Given the description of an element on the screen output the (x, y) to click on. 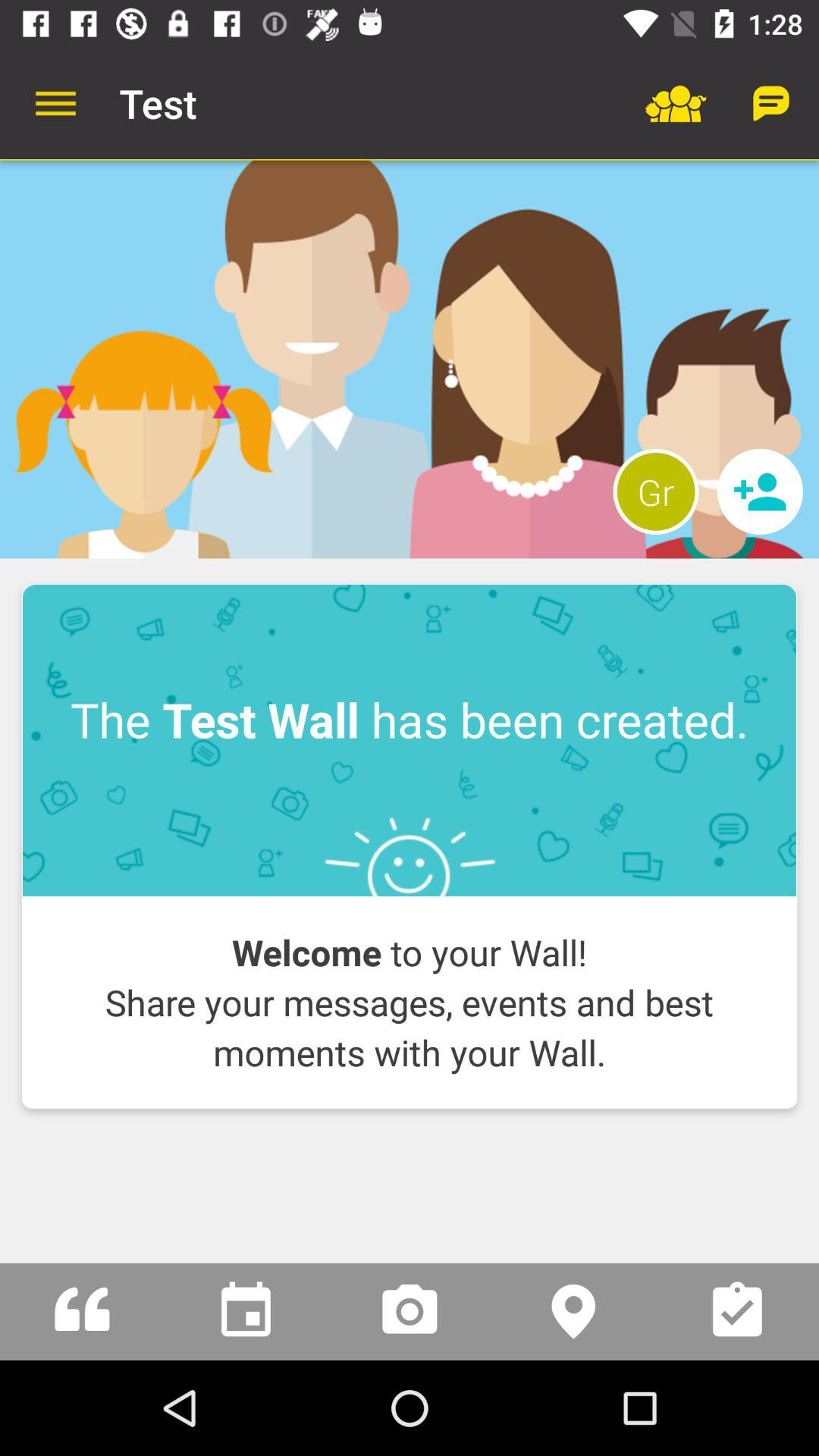
turn off icon next to the test item (55, 103)
